Given the description of an element on the screen output the (x, y) to click on. 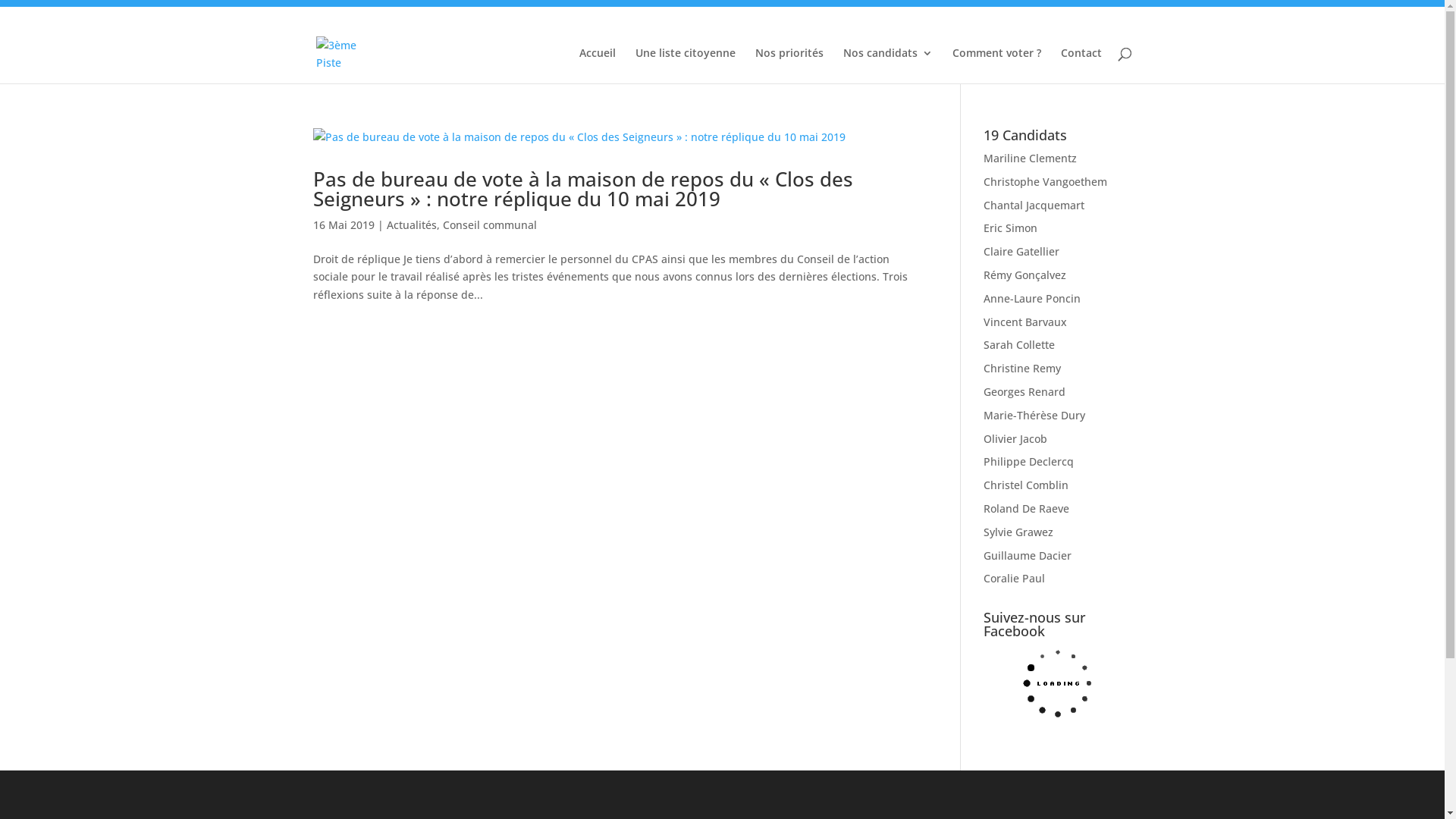
Philippe Declercq Element type: text (1028, 461)
Contact Element type: text (1080, 65)
Olivier Jacob Element type: text (1015, 438)
Christophe Vangoethem Element type: text (1045, 181)
Roland De Raeve Element type: text (1026, 508)
Sylvie Grawez Element type: text (1018, 531)
Anne-Laure Poncin Element type: text (1031, 298)
Claire Gatellier Element type: text (1021, 251)
Georges Renard Element type: text (1024, 391)
Une liste citoyenne Element type: text (685, 65)
Coralie Paul Element type: text (1013, 578)
Accueil Element type: text (597, 65)
Vincent Barvaux Element type: text (1024, 321)
Sarah Collette Element type: text (1018, 344)
Chantal Jacquemart Element type: text (1033, 204)
Christine Remy Element type: text (1021, 367)
Guillaume Dacier Element type: text (1027, 555)
Mariline Clementz Element type: text (1029, 157)
Eric Simon Element type: text (1010, 227)
Christel Comblin Element type: text (1025, 484)
Nos candidats Element type: text (887, 65)
Comment voter ? Element type: text (996, 65)
Conseil communal Element type: text (489, 224)
